Given the description of an element on the screen output the (x, y) to click on. 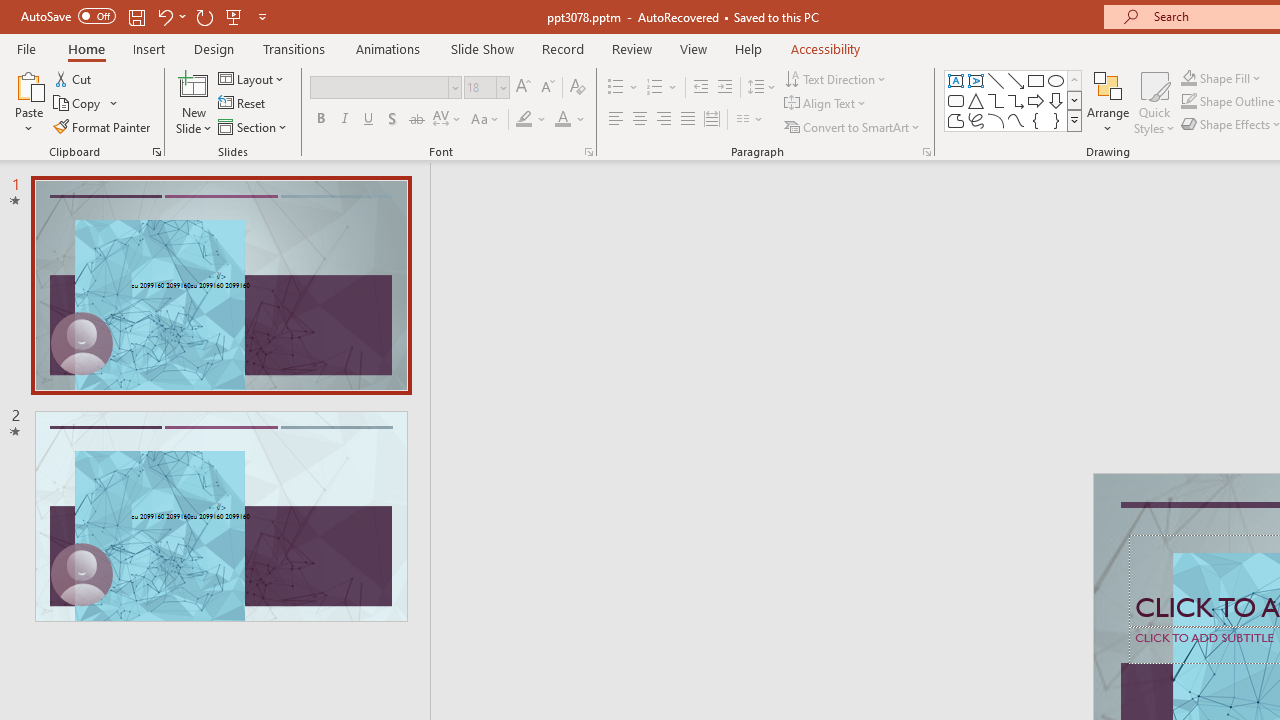
Underline (369, 119)
Section (254, 126)
Connector: Elbow (995, 100)
Cut (73, 78)
Format Painter (103, 126)
Decrease Indent (700, 87)
